Given the description of an element on the screen output the (x, y) to click on. 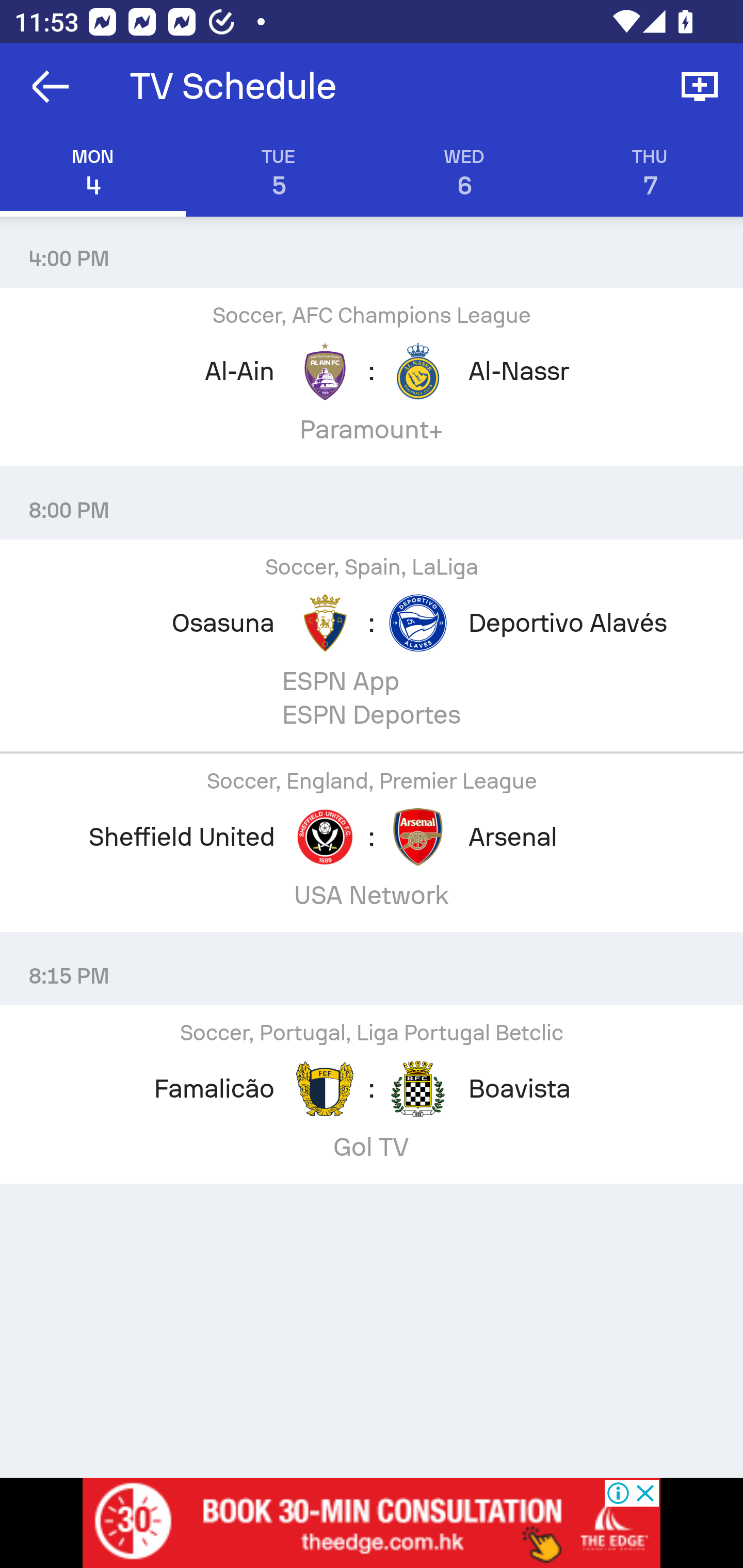
Navigate up (50, 86)
Edit channels (699, 86)
TUE 5 (278, 173)
WED 6 (464, 173)
THU 7 (650, 173)
4:00 PM (371, 250)
8:00 PM (371, 502)
8:15 PM (371, 968)
Advertisement (371, 1522)
